Given the description of an element on the screen output the (x, y) to click on. 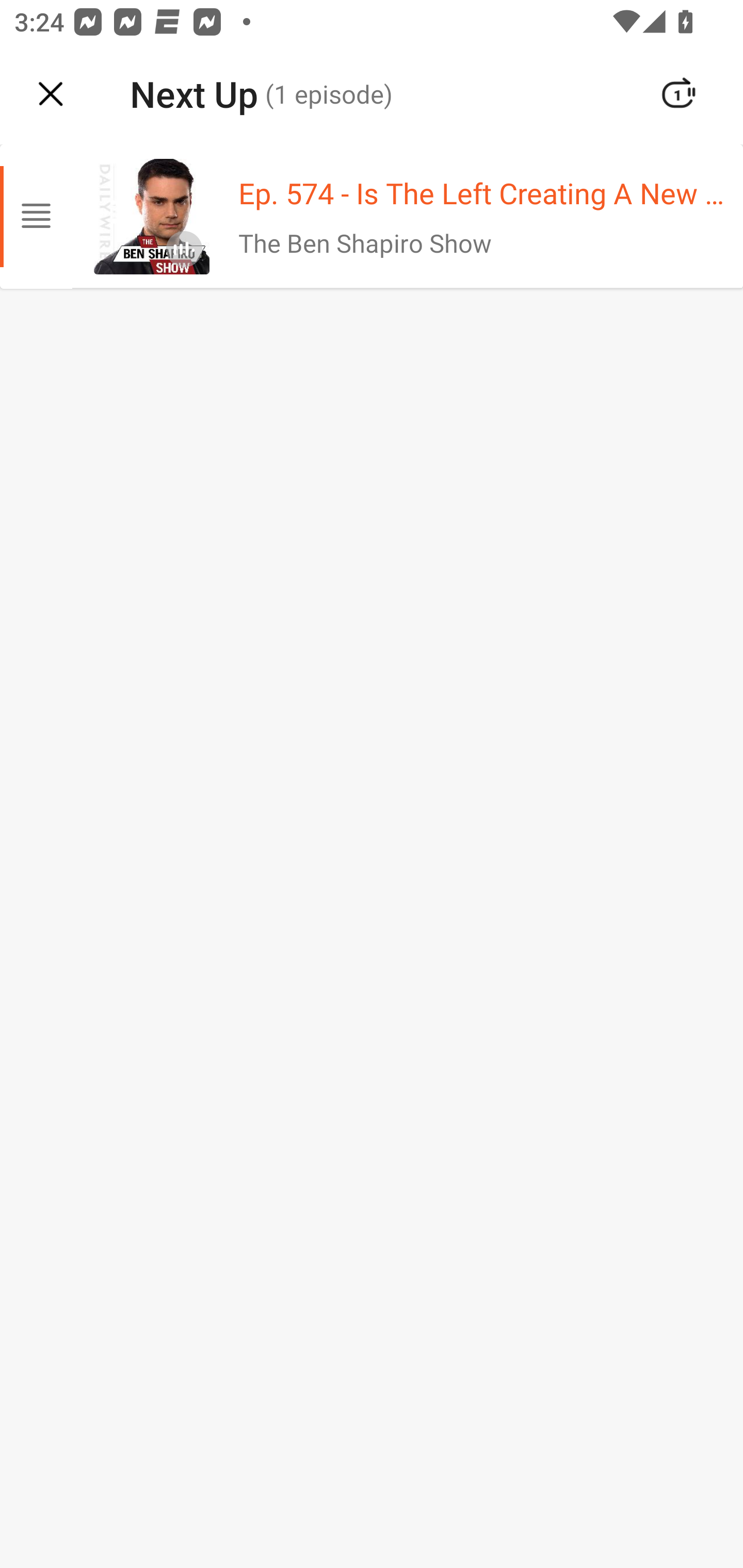
Navigate up (50, 93)
